Given the description of an element on the screen output the (x, y) to click on. 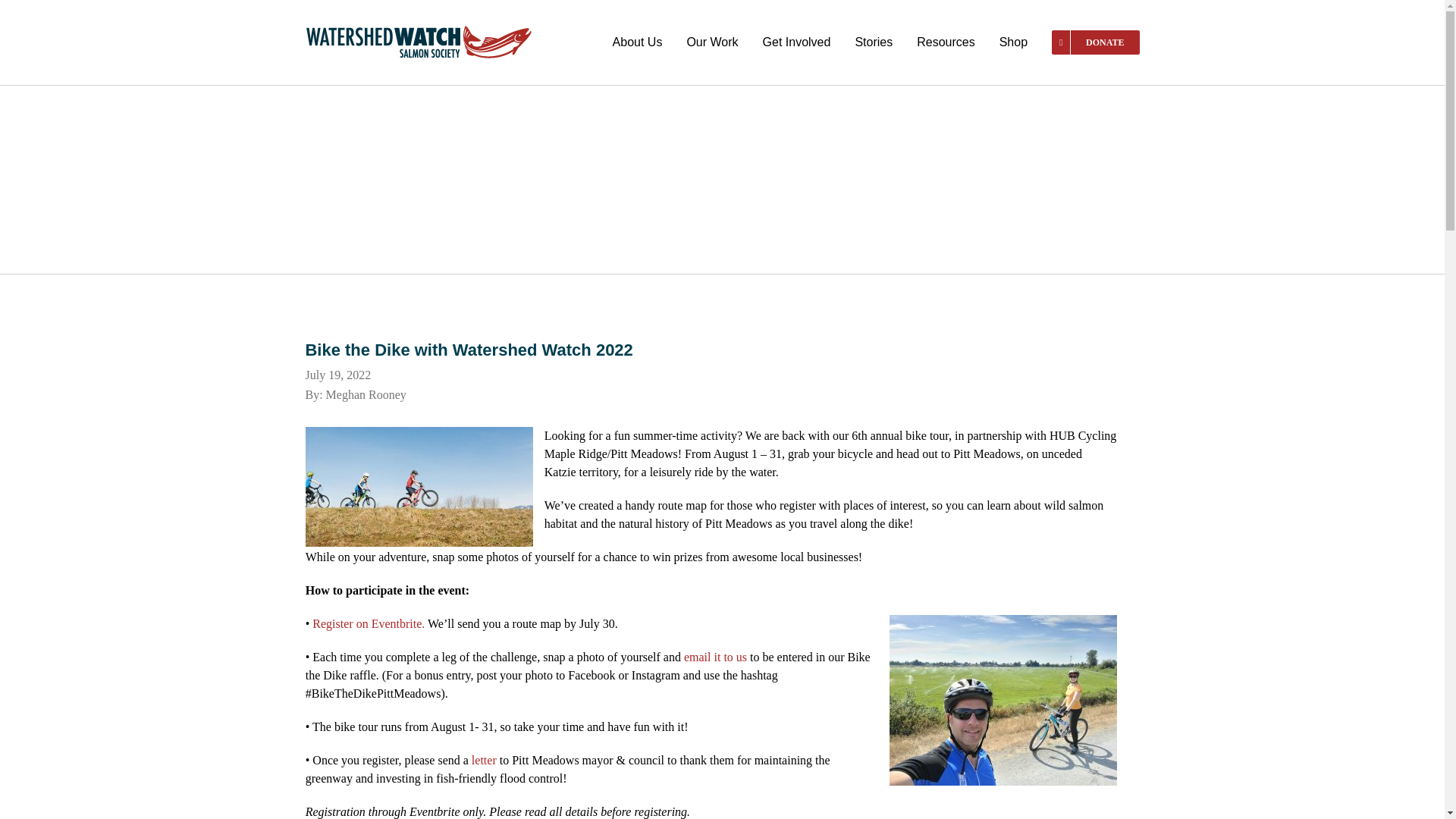
About Us (637, 42)
Our Work (711, 42)
DONATE (1094, 42)
Stories (873, 42)
Resources (945, 42)
Shop (1012, 42)
Get Involved (796, 42)
Register on Eventbrite. (369, 623)
letter (483, 759)
email it to us (715, 656)
